Given the description of an element on the screen output the (x, y) to click on. 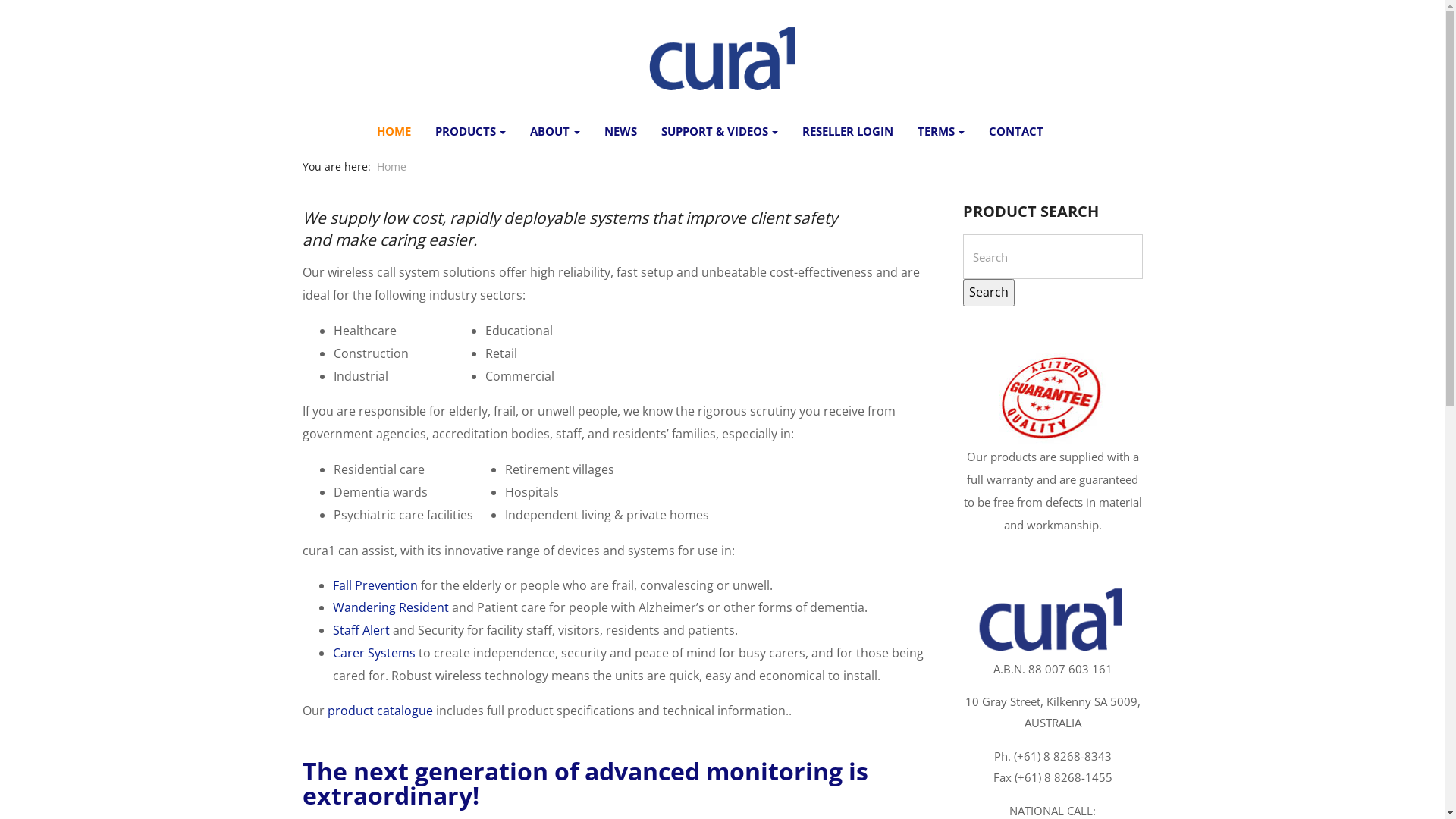
Search Element type: text (988, 292)
ABOUT Element type: text (554, 126)
Fall Prevention Element type: text (374, 585)
product catalogue Element type: text (380, 710)
TERMS Element type: text (940, 126)
The next generation of advanced monitoring is extraordinary! Element type: text (584, 782)
CONTACT Element type: text (1015, 126)
NEWS Element type: text (619, 126)
SUPPORT & VIDEOS Element type: text (719, 126)
HOME Element type: text (393, 126)
RESELLER LOGIN Element type: text (847, 126)
Staff Alert Element type: text (360, 629)
Carer Systems Element type: text (373, 652)
Wandering Resident Element type: text (390, 607)
PRODUCTS Element type: text (470, 126)
